Given the description of an element on the screen output the (x, y) to click on. 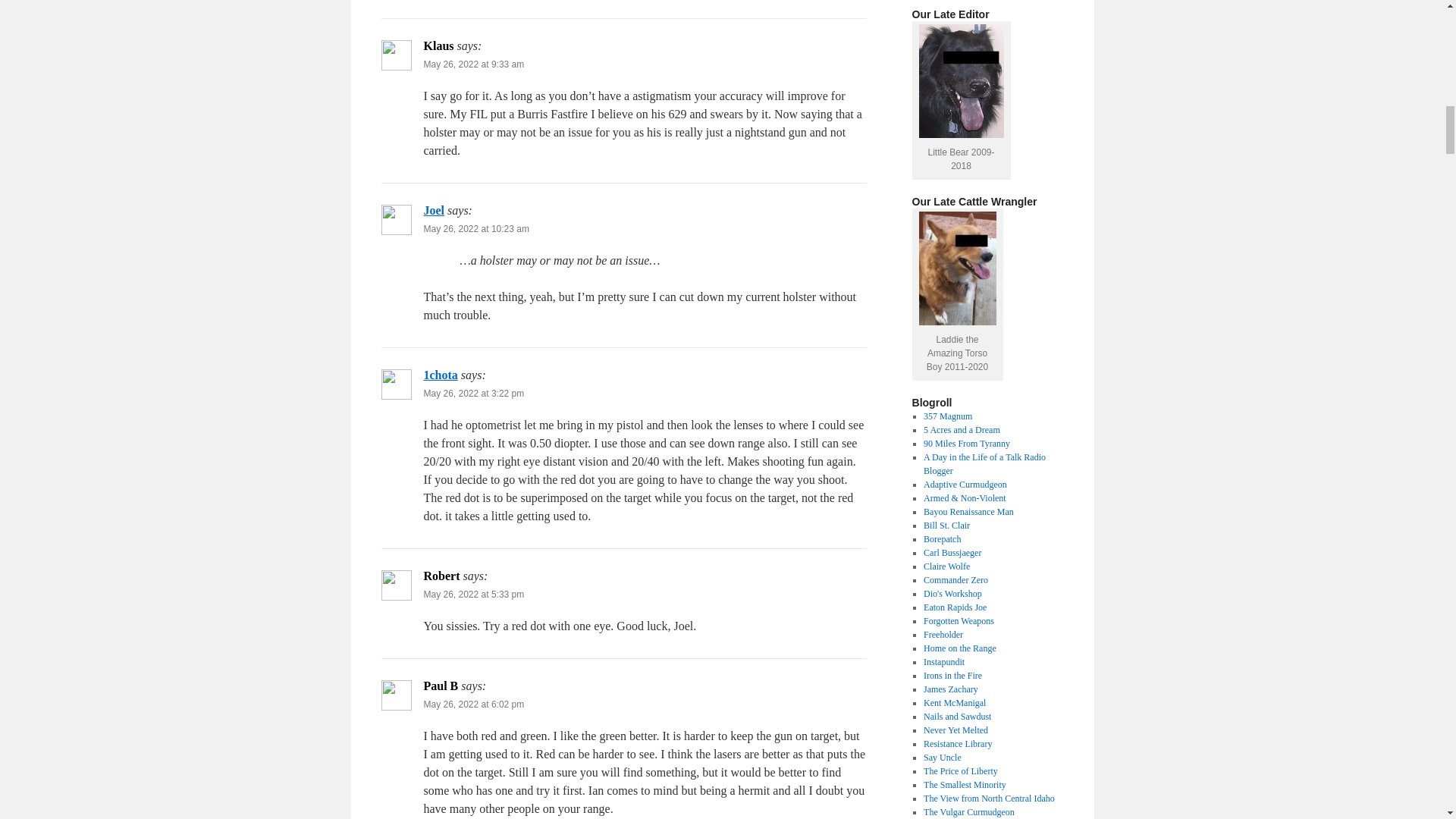
May 26, 2022 at 3:22 pm (473, 393)
May 26, 2022 at 5:33 pm (473, 593)
1chota (440, 374)
Joel (433, 210)
May 26, 2022 at 10:23 am (475, 228)
May 26, 2022 at 9:33 am (473, 63)
May 26, 2022 at 6:02 pm (473, 704)
